Given the description of an element on the screen output the (x, y) to click on. 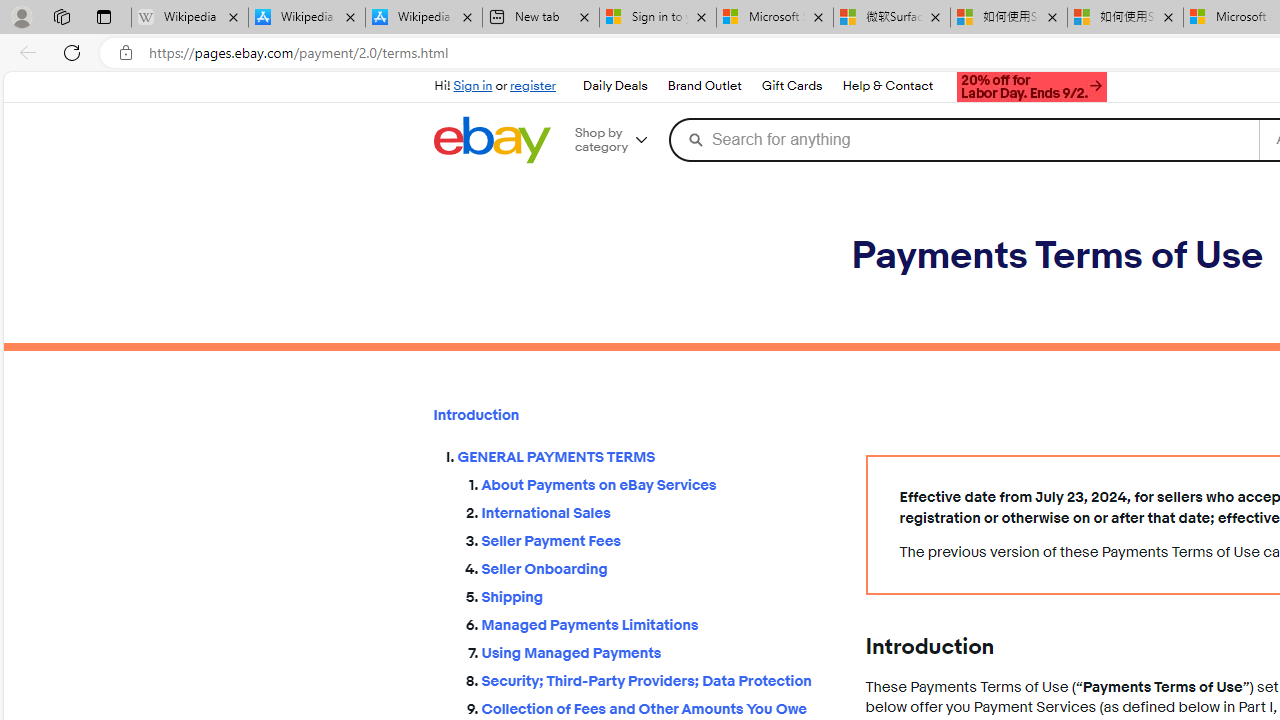
Get the coupon now (1032, 88)
Seller Payment Fees (657, 541)
Brand Outlet (704, 86)
About Payments on eBay Services (657, 485)
Seller Onboarding (657, 569)
Sign in (472, 85)
Shipping (657, 596)
Shipping (657, 592)
Using Managed Payments (657, 649)
International Sales (657, 509)
